Given the description of an element on the screen output the (x, y) to click on. 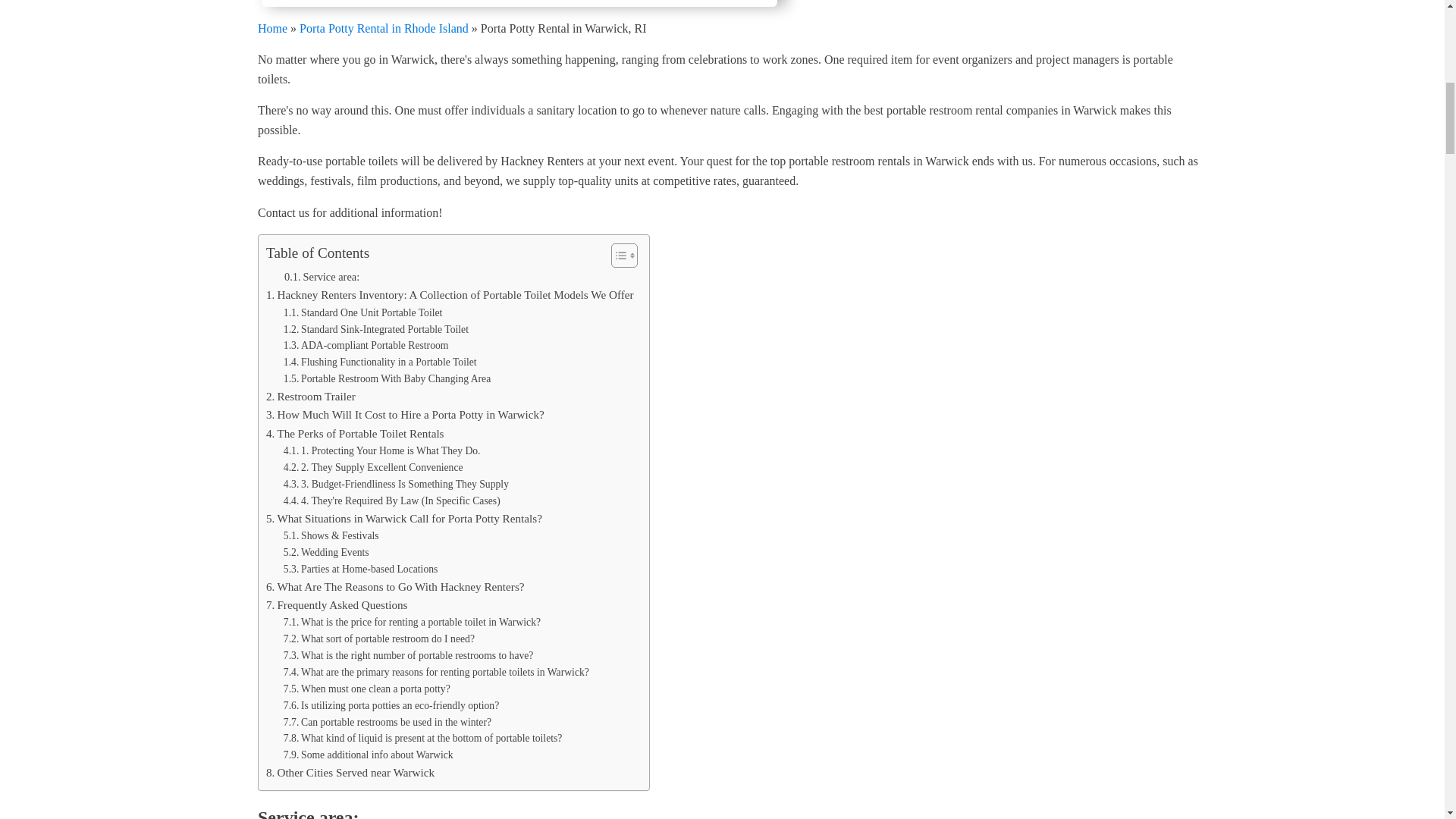
2. They Supply Excellent Convenience (373, 467)
Restroom Trailer (310, 396)
How Much Will It Cost to Hire a Porta Potty in Warwick? (405, 414)
Home (271, 27)
How Much Will It Cost to Hire a Porta Potty in Warwick? (405, 414)
Restroom Trailer (310, 396)
Flushing Functionality in a Portable Toilet (380, 362)
Portable Restroom With Baby Changing Area (386, 379)
Service area: (321, 276)
Service area: (321, 276)
